Given the description of an element on the screen output the (x, y) to click on. 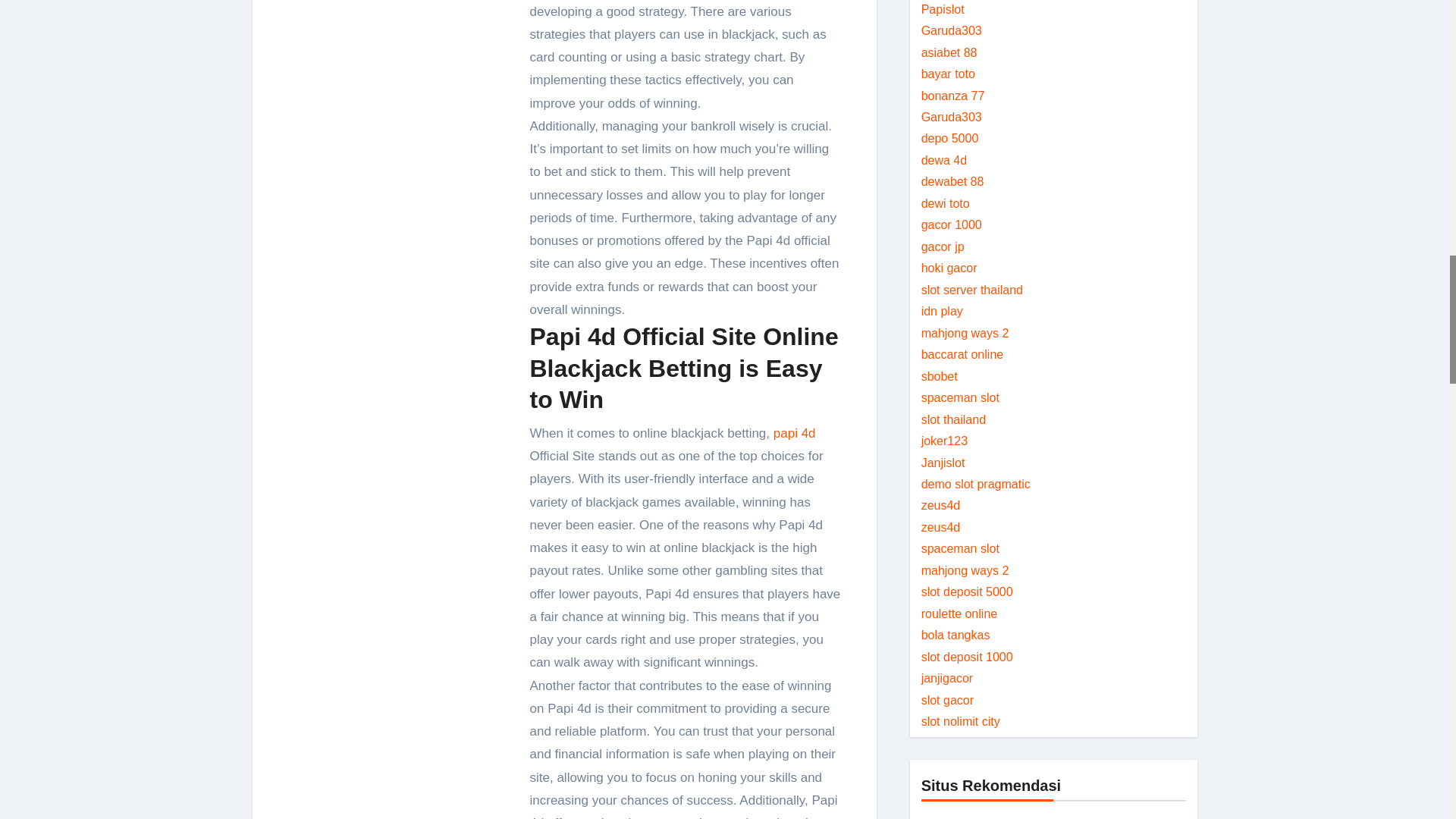
papi 4d (794, 432)
